Given the description of an element on the screen output the (x, y) to click on. 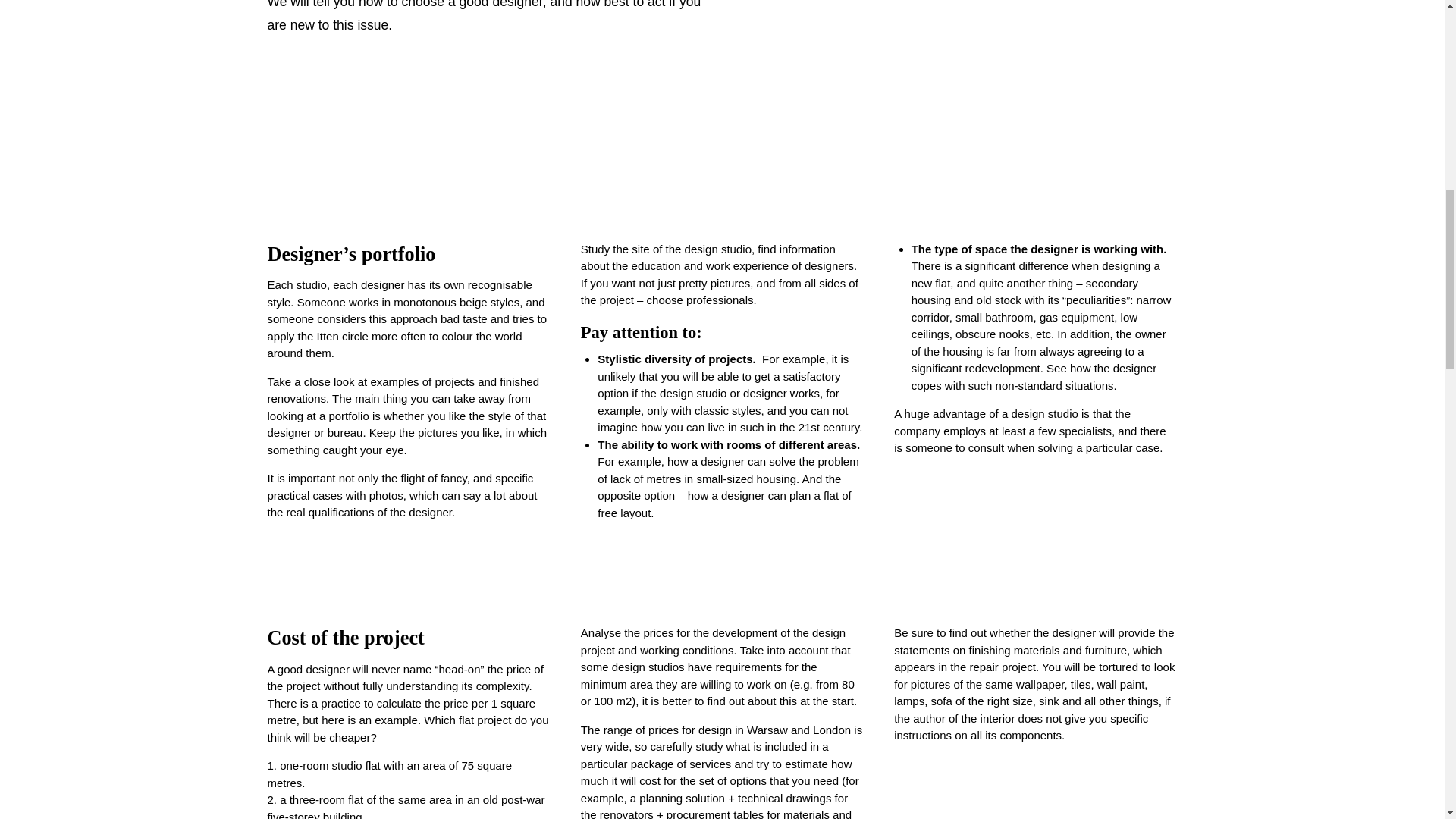
Helena Woropaj (979, 109)
